Given the description of an element on the screen output the (x, y) to click on. 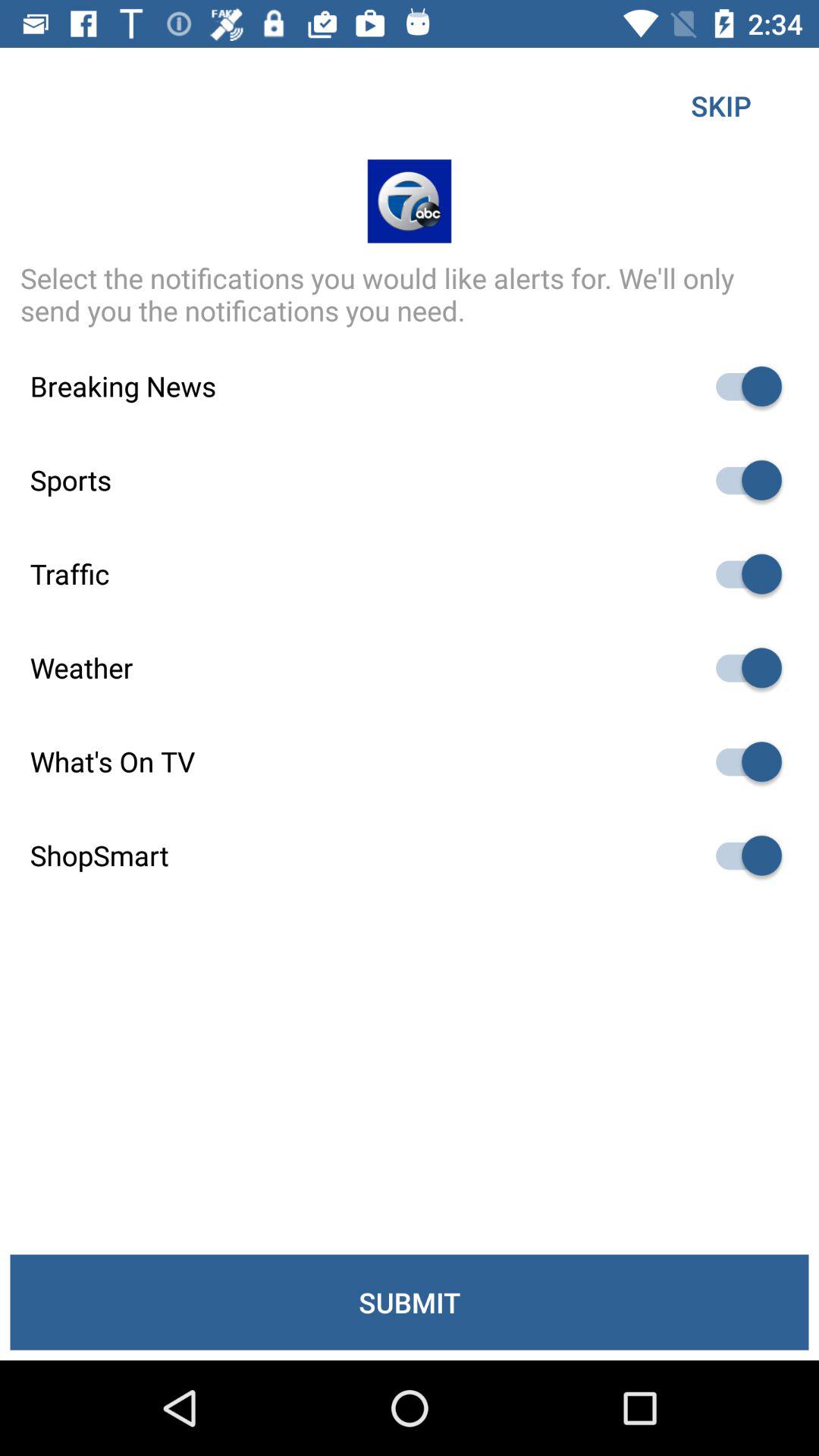
flip to submit (409, 1302)
